Given the description of an element on the screen output the (x, y) to click on. 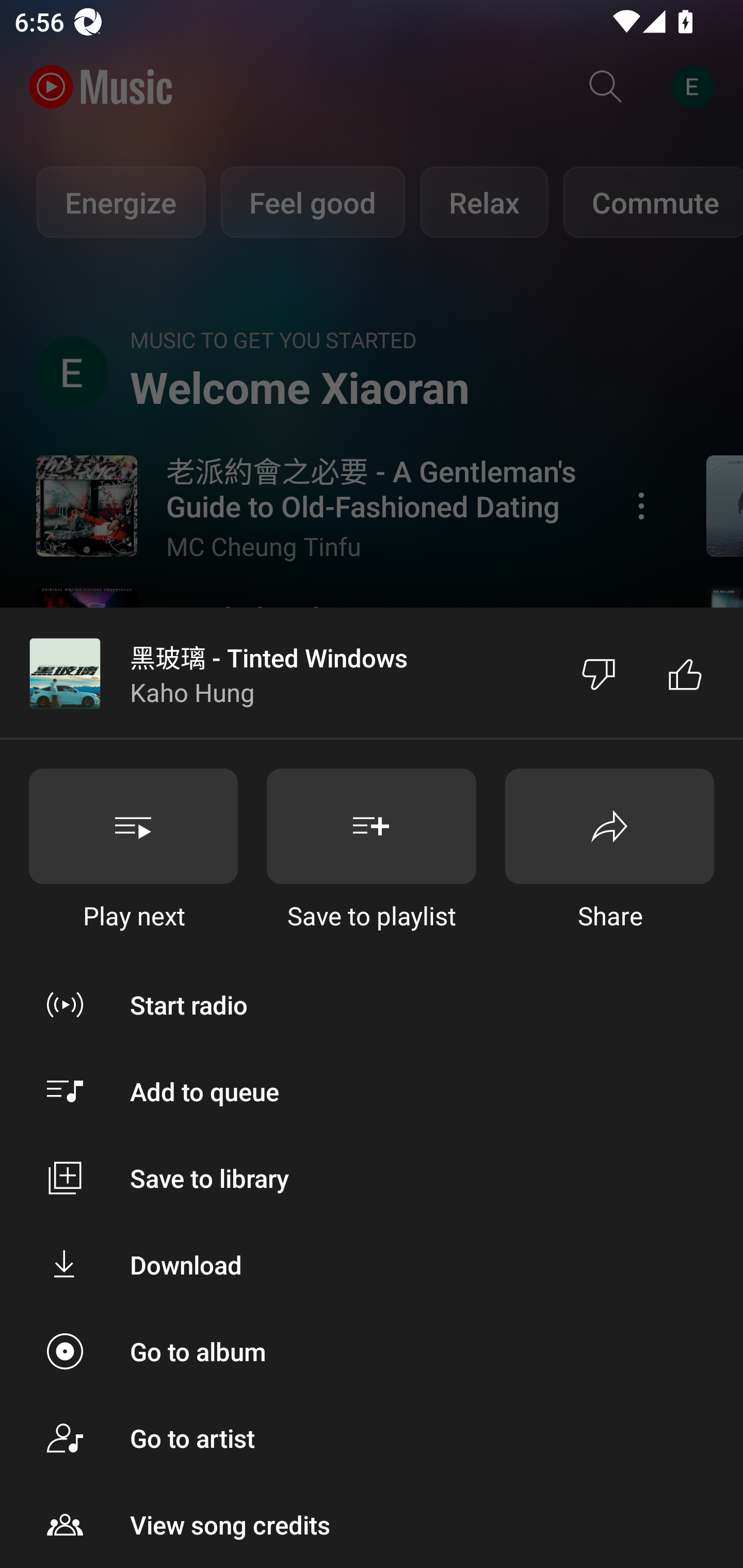
Dislike (598, 673)
Like (684, 673)
Start radio (371, 1004)
Add to queue (371, 1091)
Save to library (371, 1178)
Download (371, 1264)
Go to album (371, 1350)
Go to artist (371, 1437)
View song credits (371, 1524)
